Given the description of an element on the screen output the (x, y) to click on. 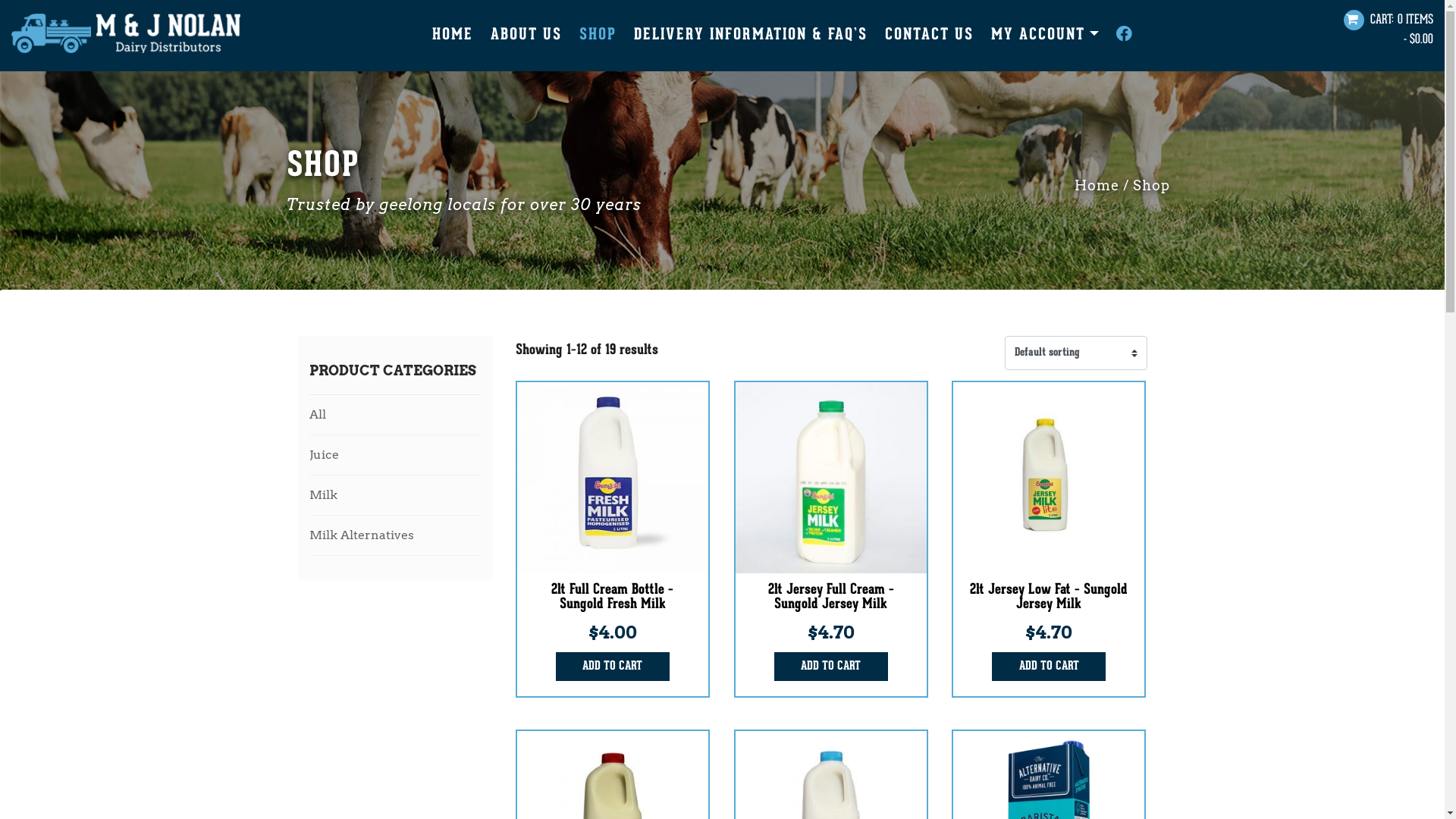
ADD TO CART Element type: text (612, 666)
ADD TO CART Element type: text (831, 666)
0 ITEMS
$0.00 Element type: text (1388, 31)
SHOP Element type: text (597, 35)
CONTACT US Element type: text (929, 35)
Milk Alternatives Element type: text (395, 535)
HOME Element type: text (452, 35)
ABOUT US Element type: text (526, 35)
Home Element type: text (1095, 185)
All Element type: text (395, 414)
ADD TO CART Element type: text (1048, 666)
MY ACCOUNT Element type: text (1044, 35)
Milk Element type: text (395, 494)
Juice Element type: text (395, 454)
